Given the description of an element on the screen output the (x, y) to click on. 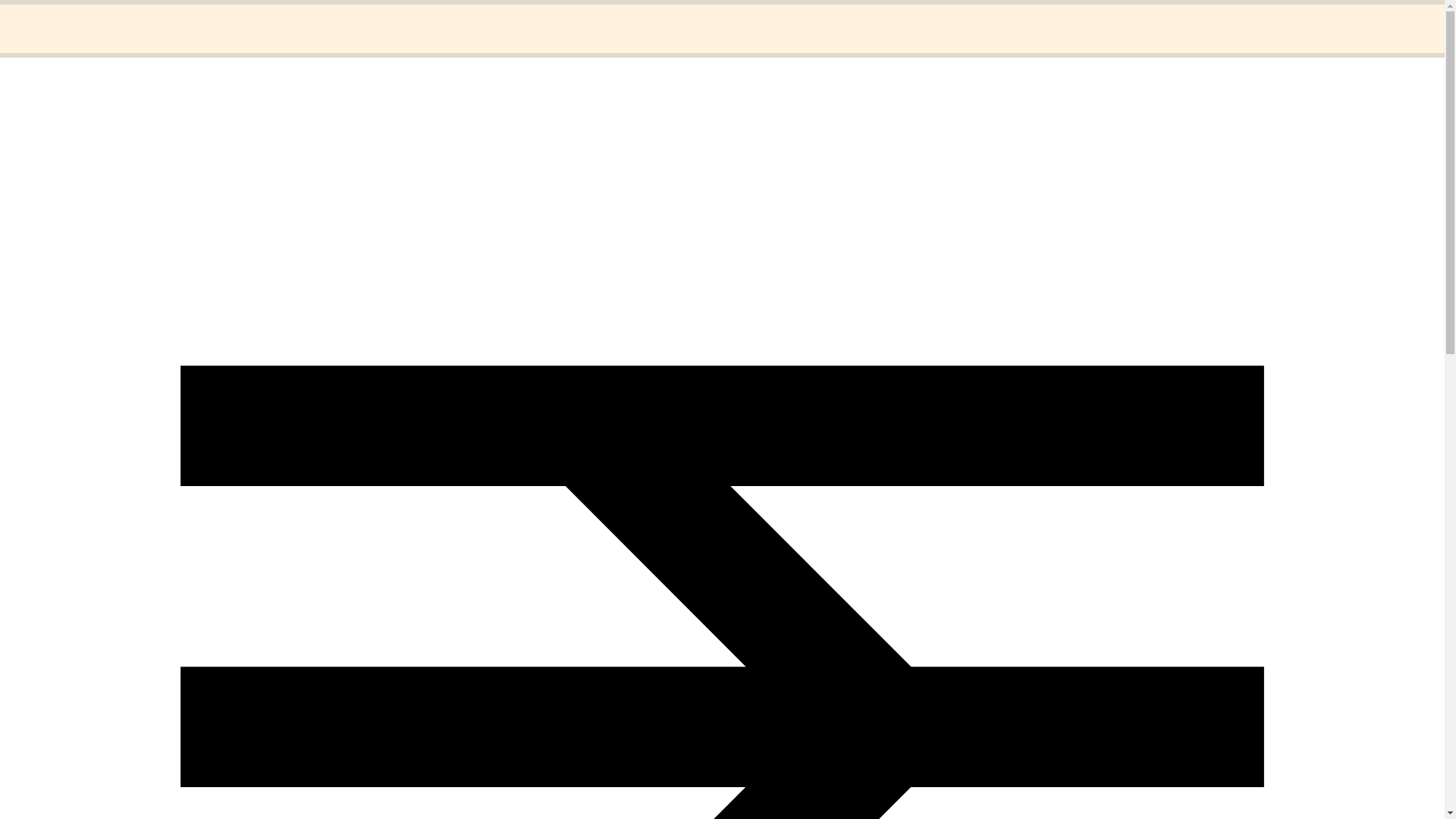
Home (50, 18)
